Given the description of an element on the screen output the (x, y) to click on. 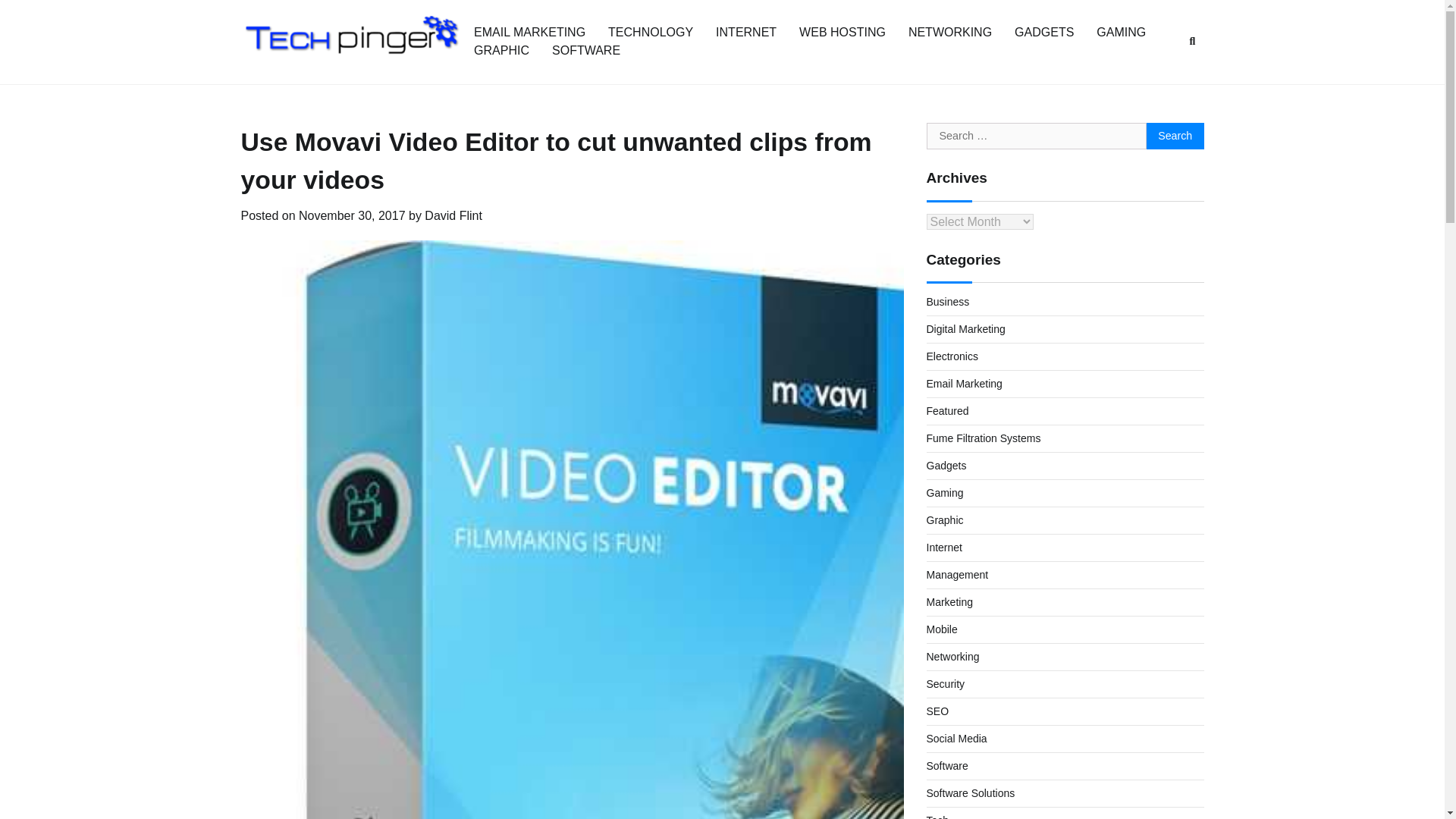
Electronics (952, 356)
GAMING (1120, 31)
Gadgets (946, 465)
Search (1164, 76)
Email Marketing (964, 383)
TECHNOLOGY (650, 31)
Social Media (956, 738)
Search (1175, 135)
EMAIL MARKETING (529, 31)
Digital Marketing (966, 328)
Search (1192, 41)
David Flint (453, 215)
Gaming (944, 492)
Business (947, 301)
Search (1175, 135)
